Given the description of an element on the screen output the (x, y) to click on. 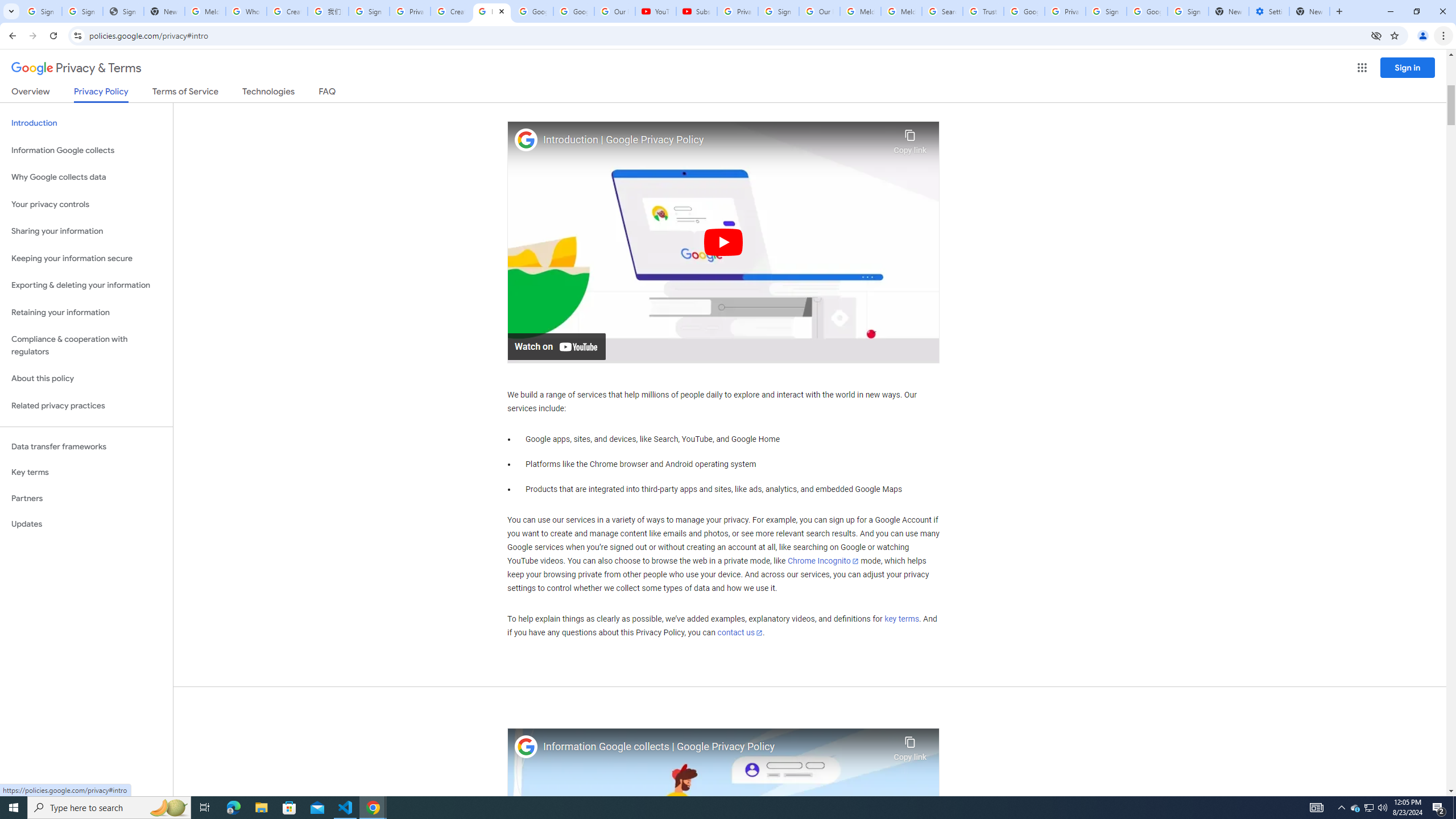
Keeping your information secure (86, 258)
Create your Google Account (287, 11)
Google Account (573, 11)
Chrome Incognito (823, 561)
Compliance & cooperation with regulators (86, 345)
Create your Google Account (450, 11)
New Tab (1309, 11)
